Given the description of an element on the screen output the (x, y) to click on. 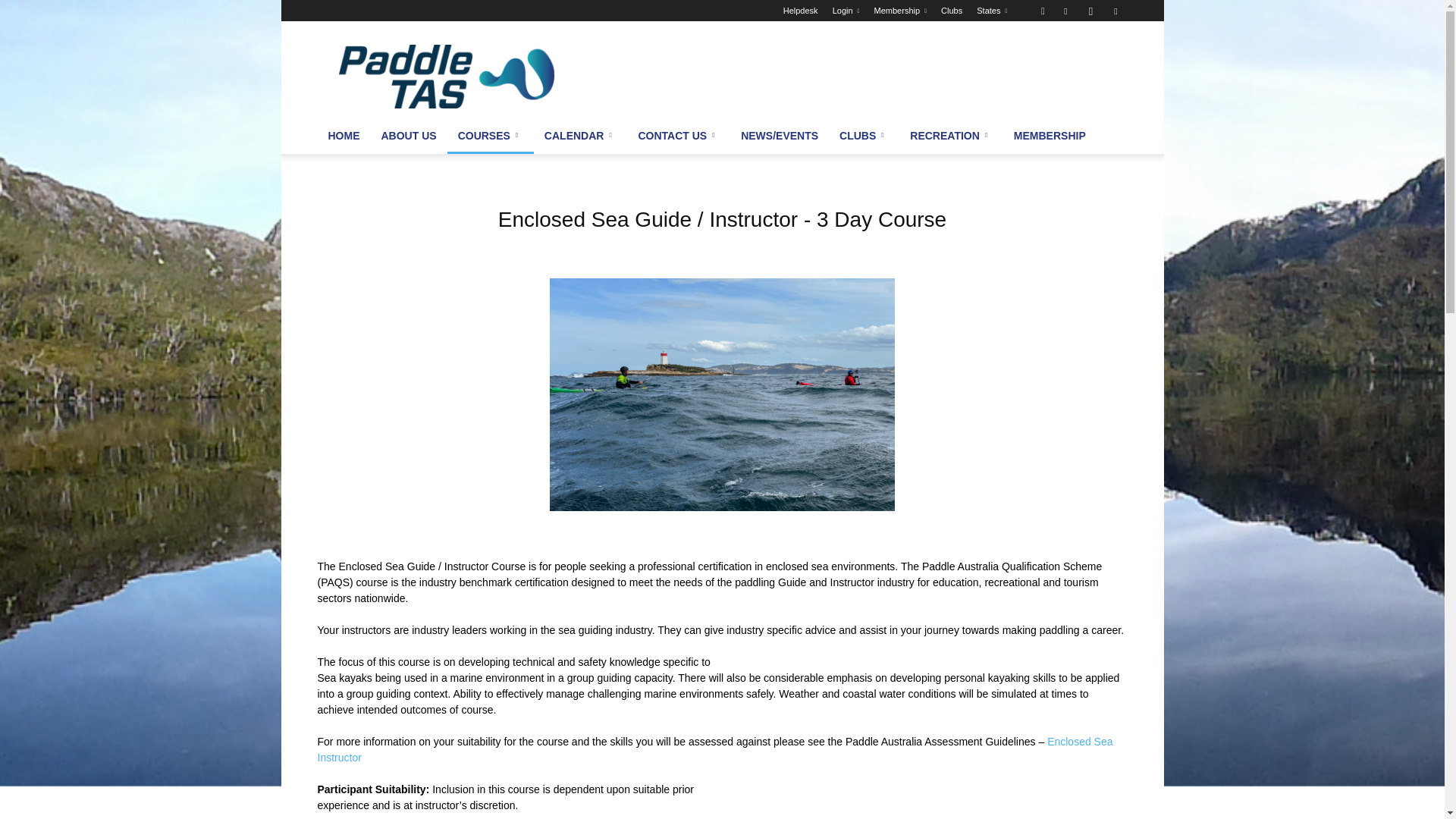
Instagram (1090, 10)
Facebook (1065, 10)
Youtube (1114, 10)
